Given the description of an element on the screen output the (x, y) to click on. 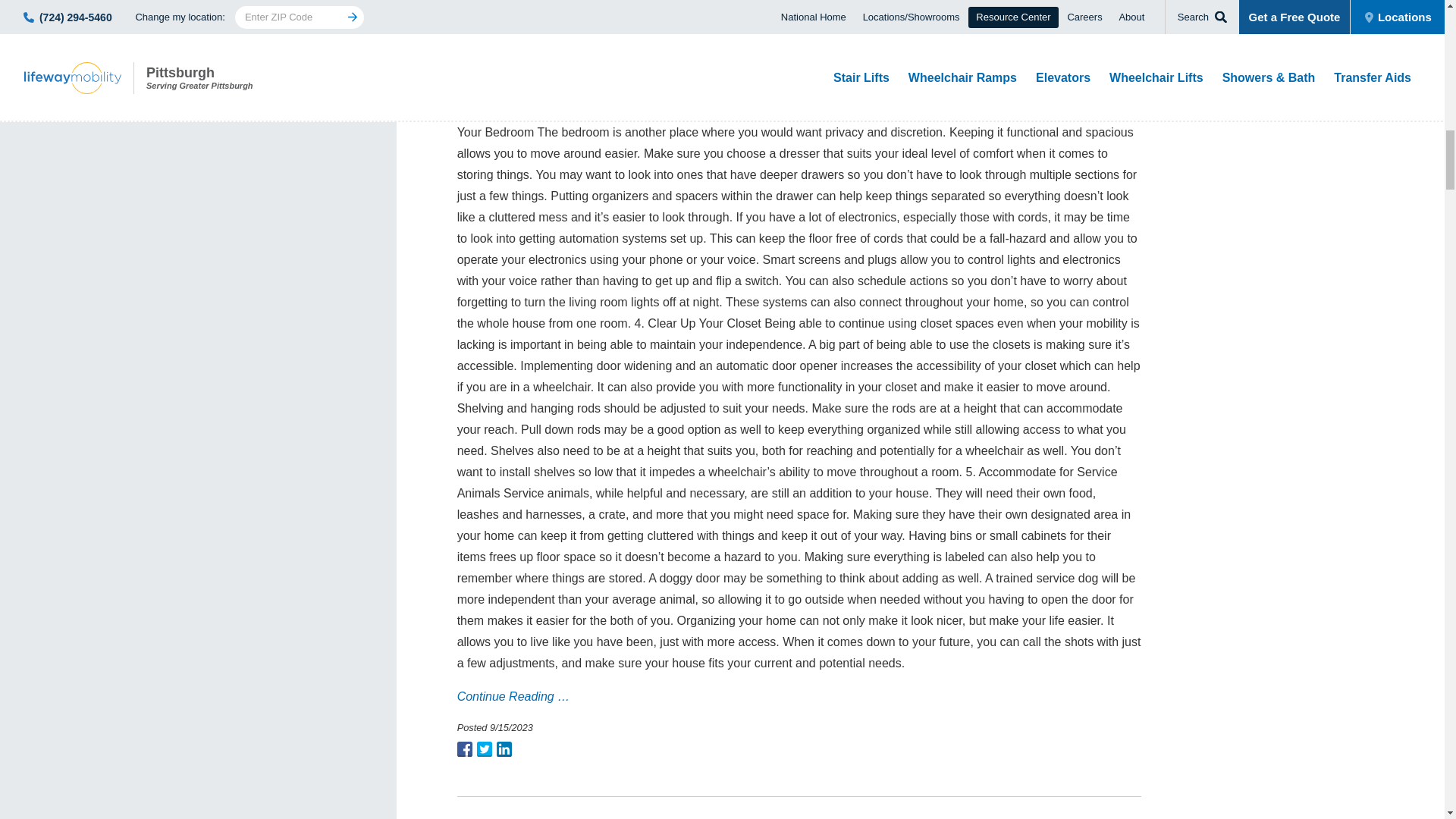
Share on LinkedIn (504, 749)
Share on Twitter (484, 749)
Share on Facebook (464, 749)
